Given the description of an element on the screen output the (x, y) to click on. 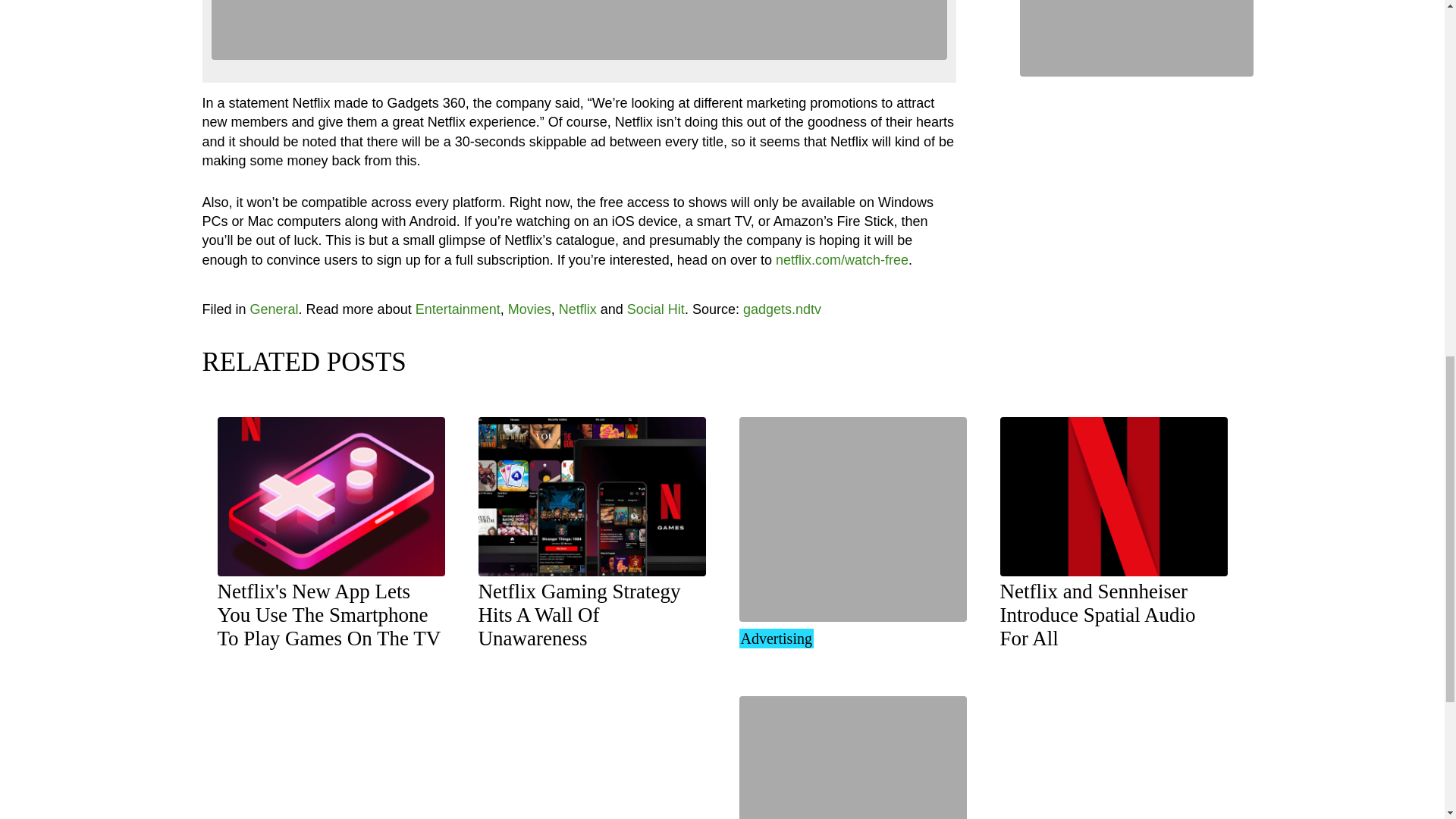
Netflix (328, 614)
